Given the description of an element on the screen output the (x, y) to click on. 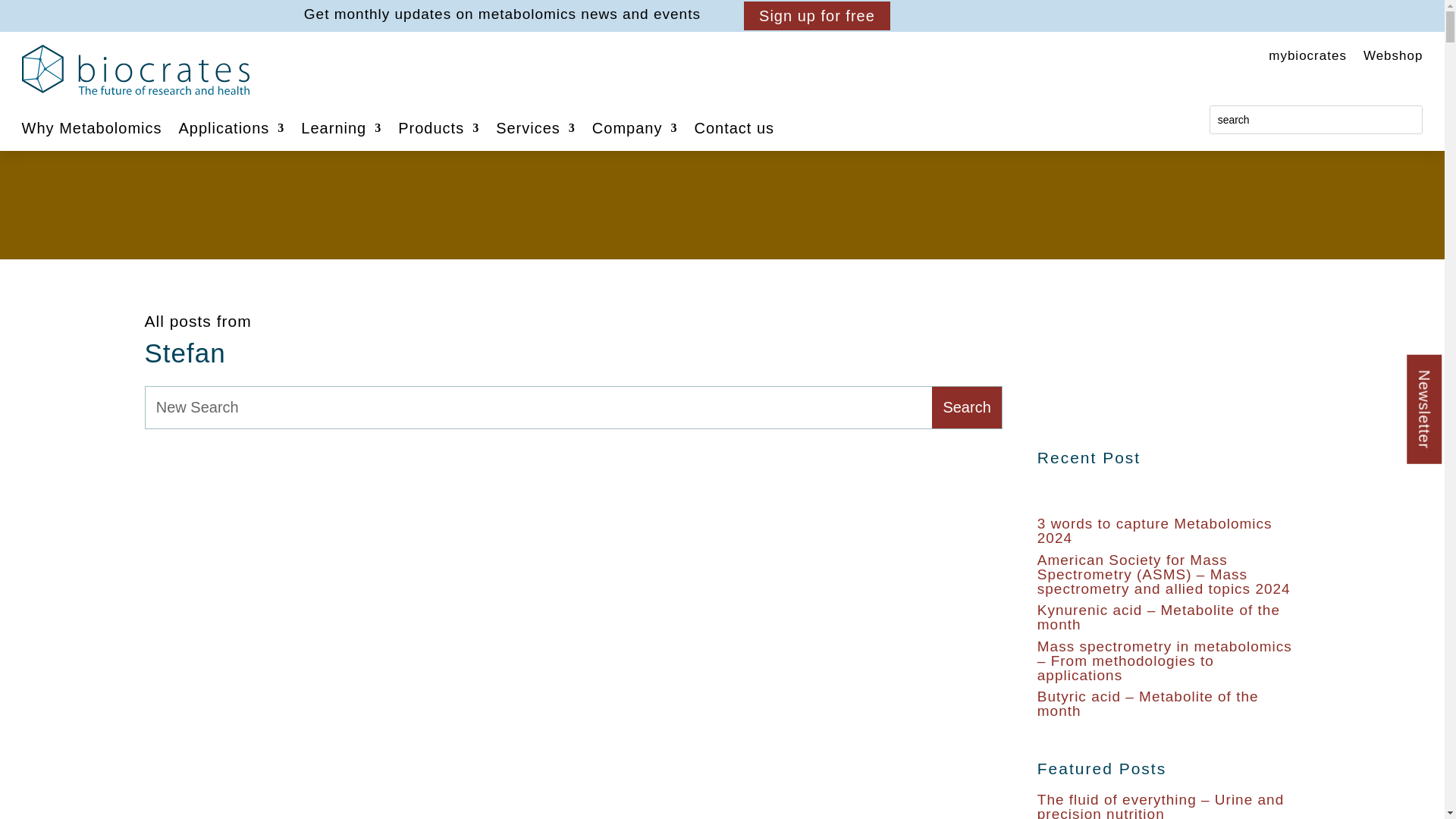
Search (966, 407)
Services (535, 130)
Search (966, 407)
Applications (232, 130)
Sign up for free (816, 15)
mybiocrates (1307, 58)
Why Metabolomics (91, 130)
Webshop (1392, 58)
Company (635, 130)
Biocrates-Logo (134, 70)
